Given the description of an element on the screen output the (x, y) to click on. 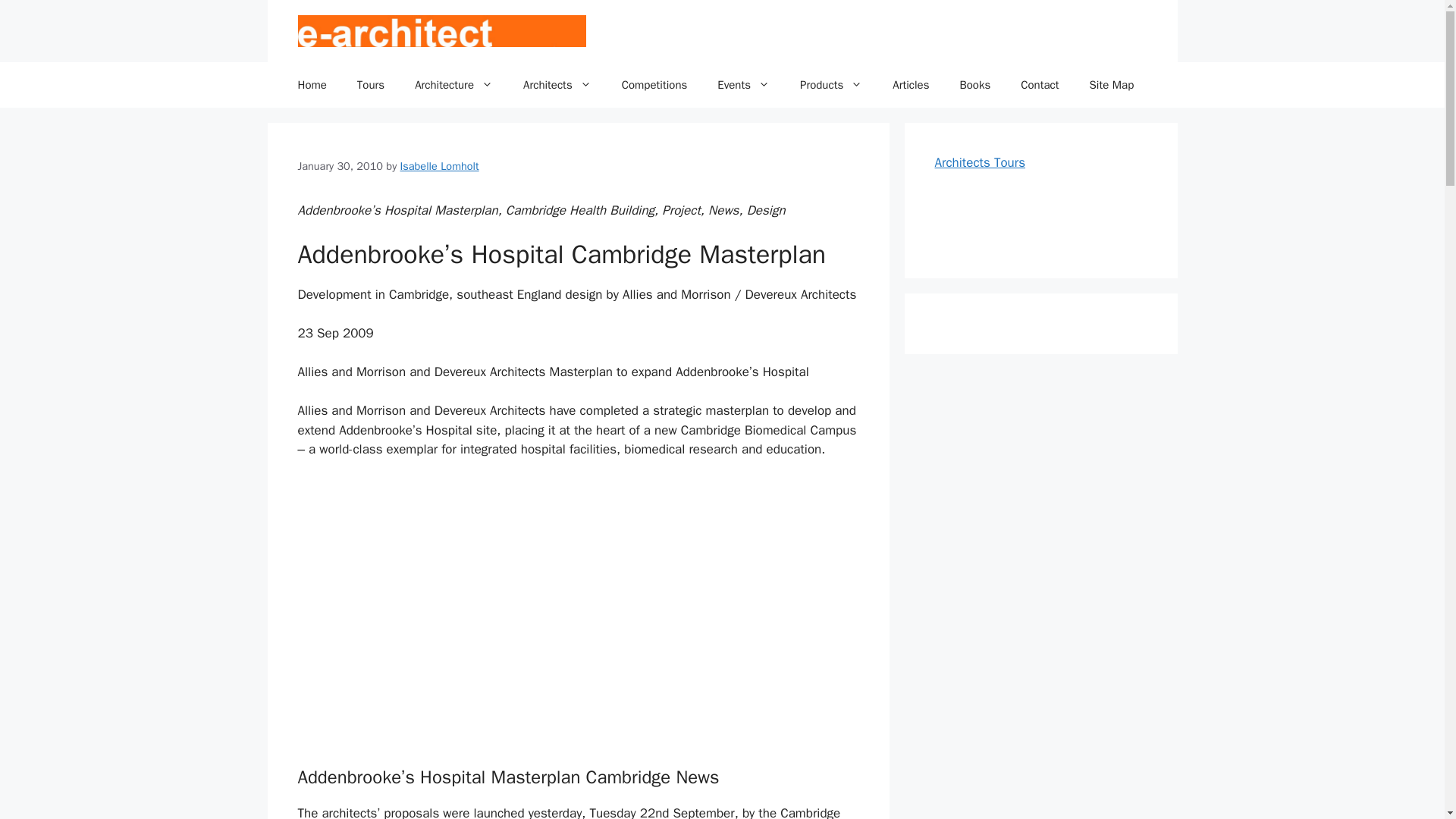
Architects (557, 84)
Architecture (453, 84)
Contact (1040, 84)
Home (311, 84)
Site Map (1112, 84)
Isabelle Lomholt (439, 165)
View all posts by Isabelle Lomholt (439, 165)
Articles (910, 84)
Competitions (655, 84)
Products (830, 84)
Home (311, 84)
Tours (370, 84)
Books (974, 84)
Events (742, 84)
